Given the description of an element on the screen output the (x, y) to click on. 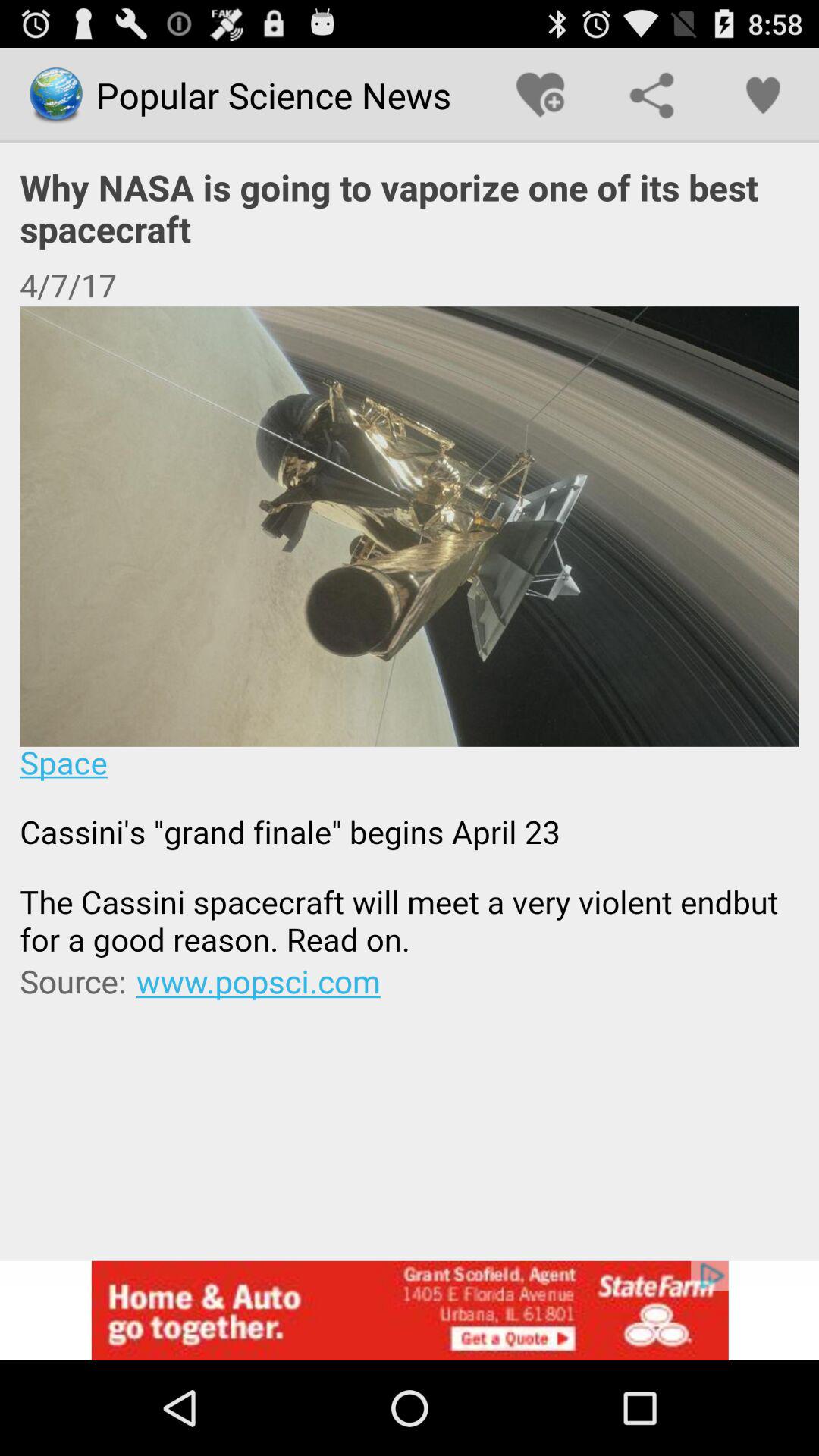
view image (409, 632)
